Given the description of an element on the screen output the (x, y) to click on. 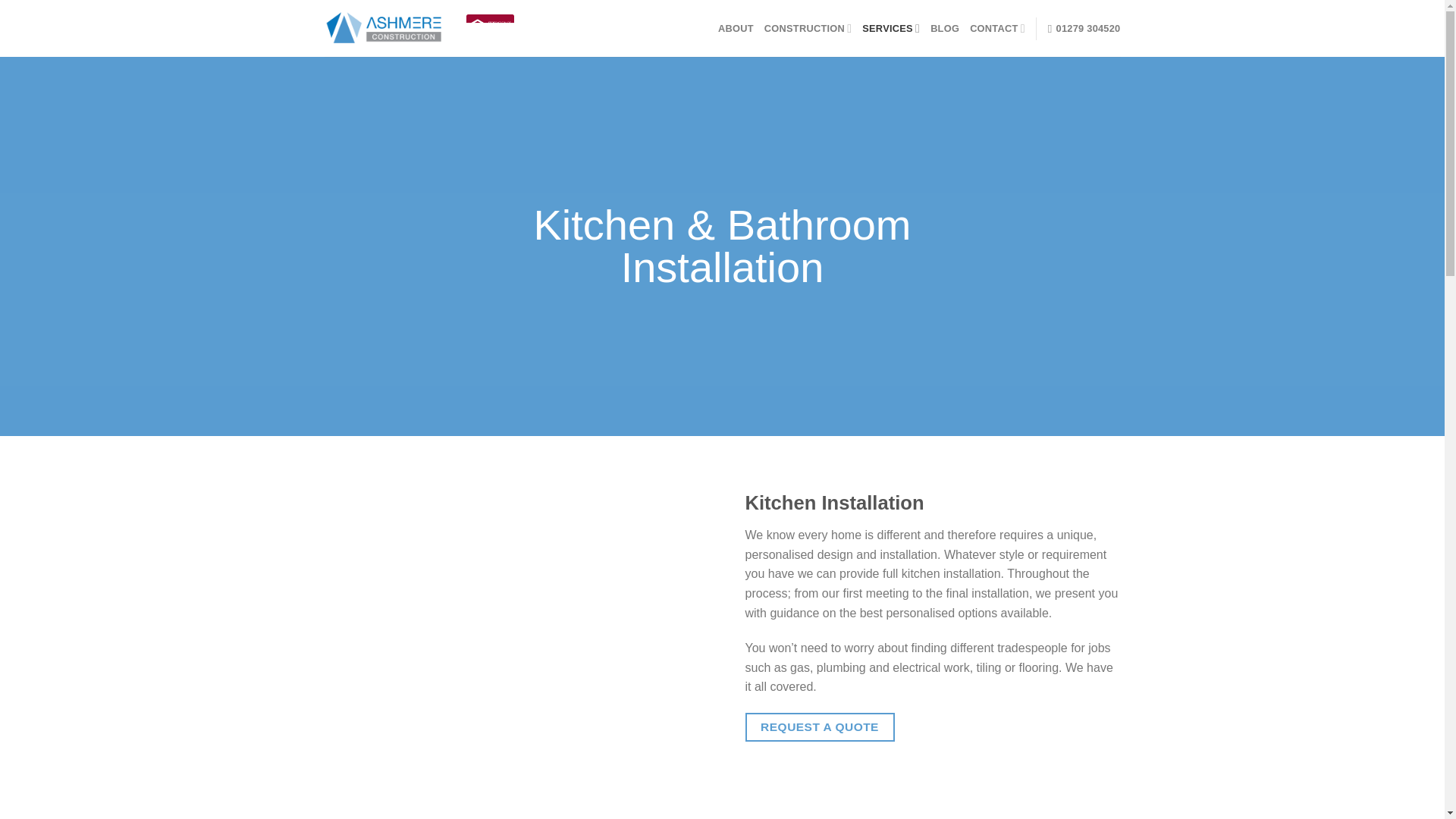
CONSTRUCTION (807, 28)
BLOG (944, 28)
01279 304520 (1084, 27)
01279 304520 (1084, 27)
CONTACT (997, 28)
ABOUT (735, 28)
SERVICES (890, 28)
REQUEST A QUOTE (818, 727)
